Given the description of an element on the screen output the (x, y) to click on. 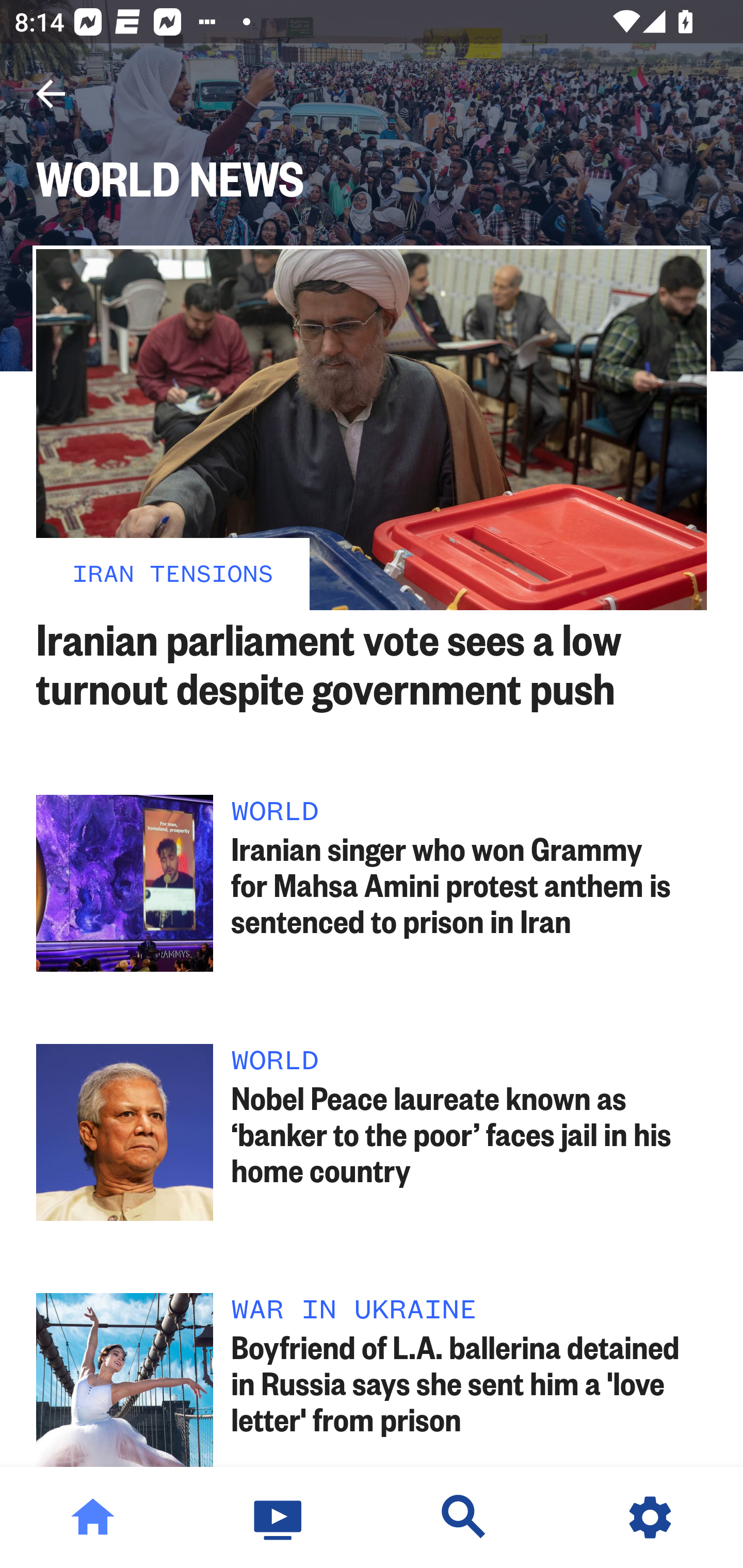
Navigate up (50, 93)
Watch (278, 1517)
Discover (464, 1517)
Settings (650, 1517)
